Given the description of an element on the screen output the (x, y) to click on. 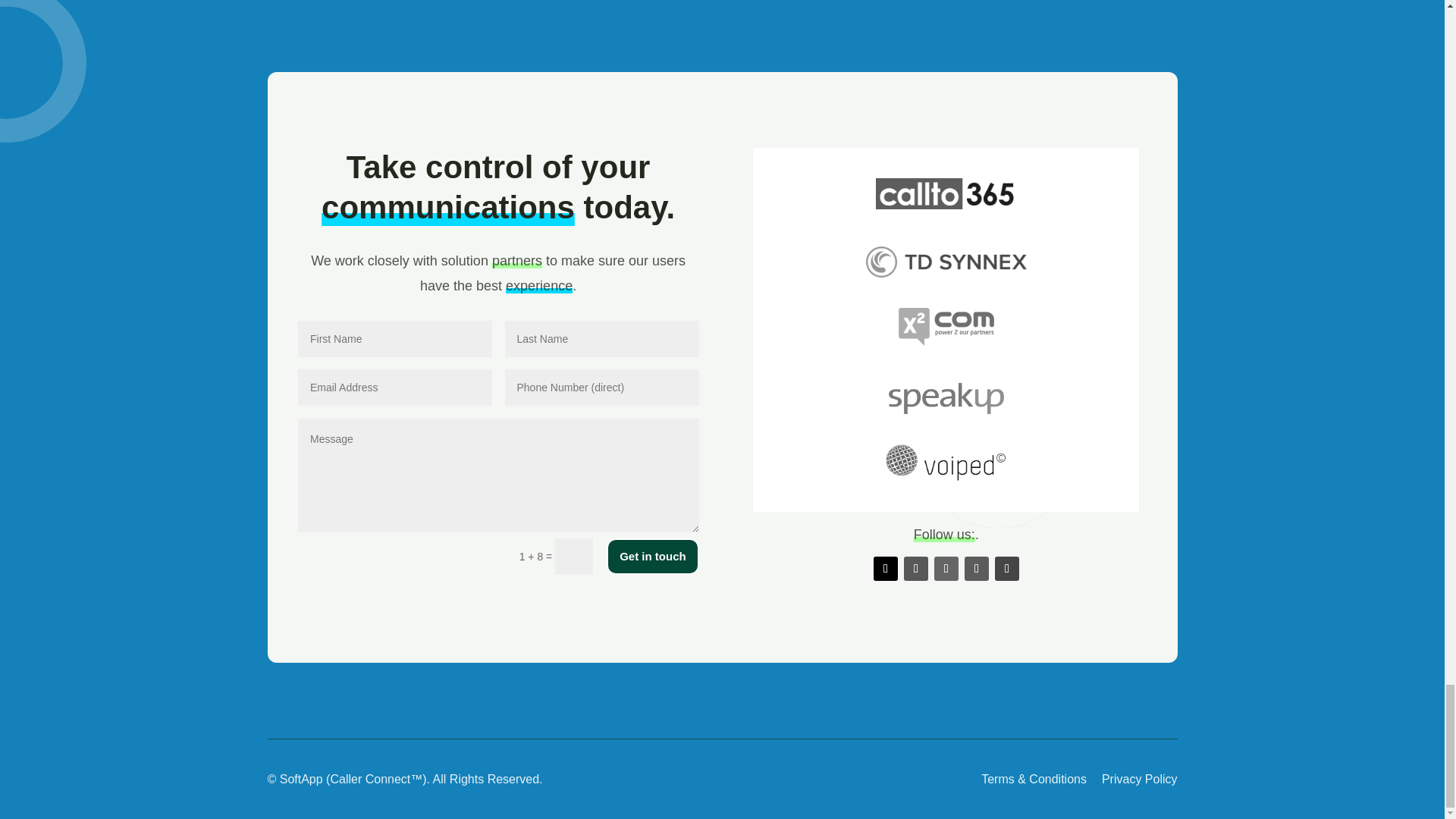
Get in touch (652, 556)
